Given the description of an element on the screen output the (x, y) to click on. 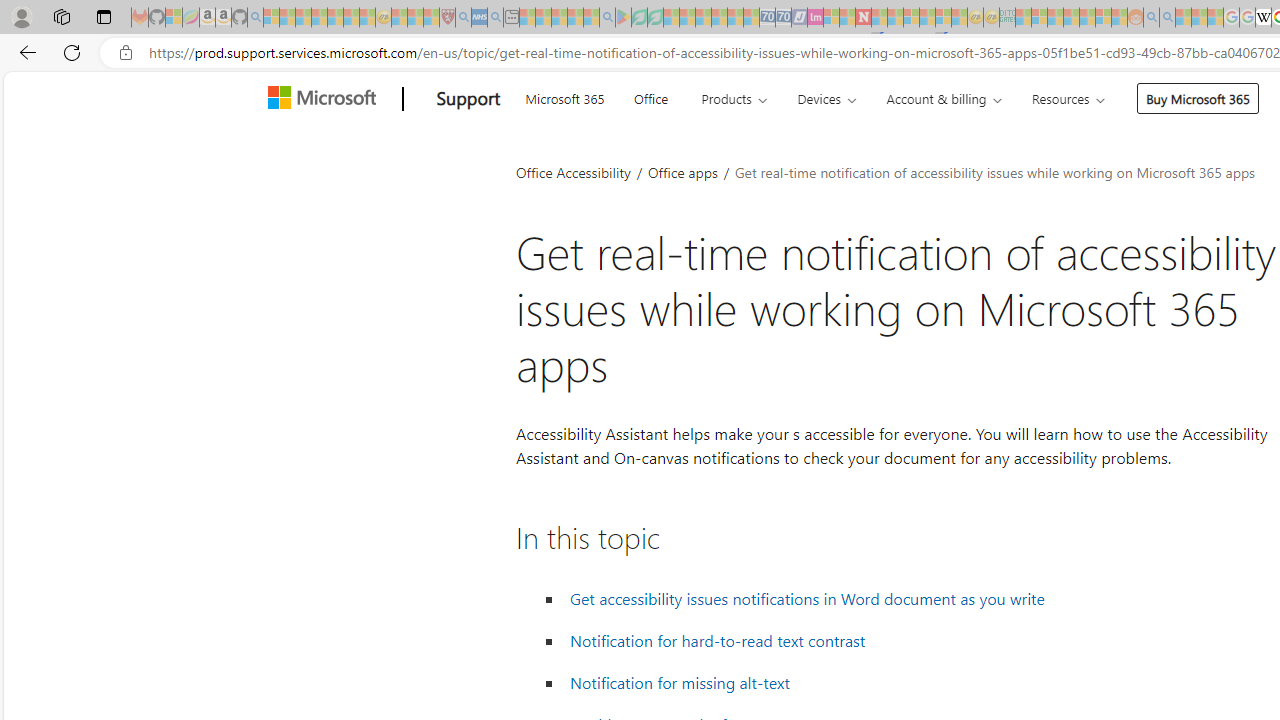
Office apps  (683, 172)
